Given the description of an element on the screen output the (x, y) to click on. 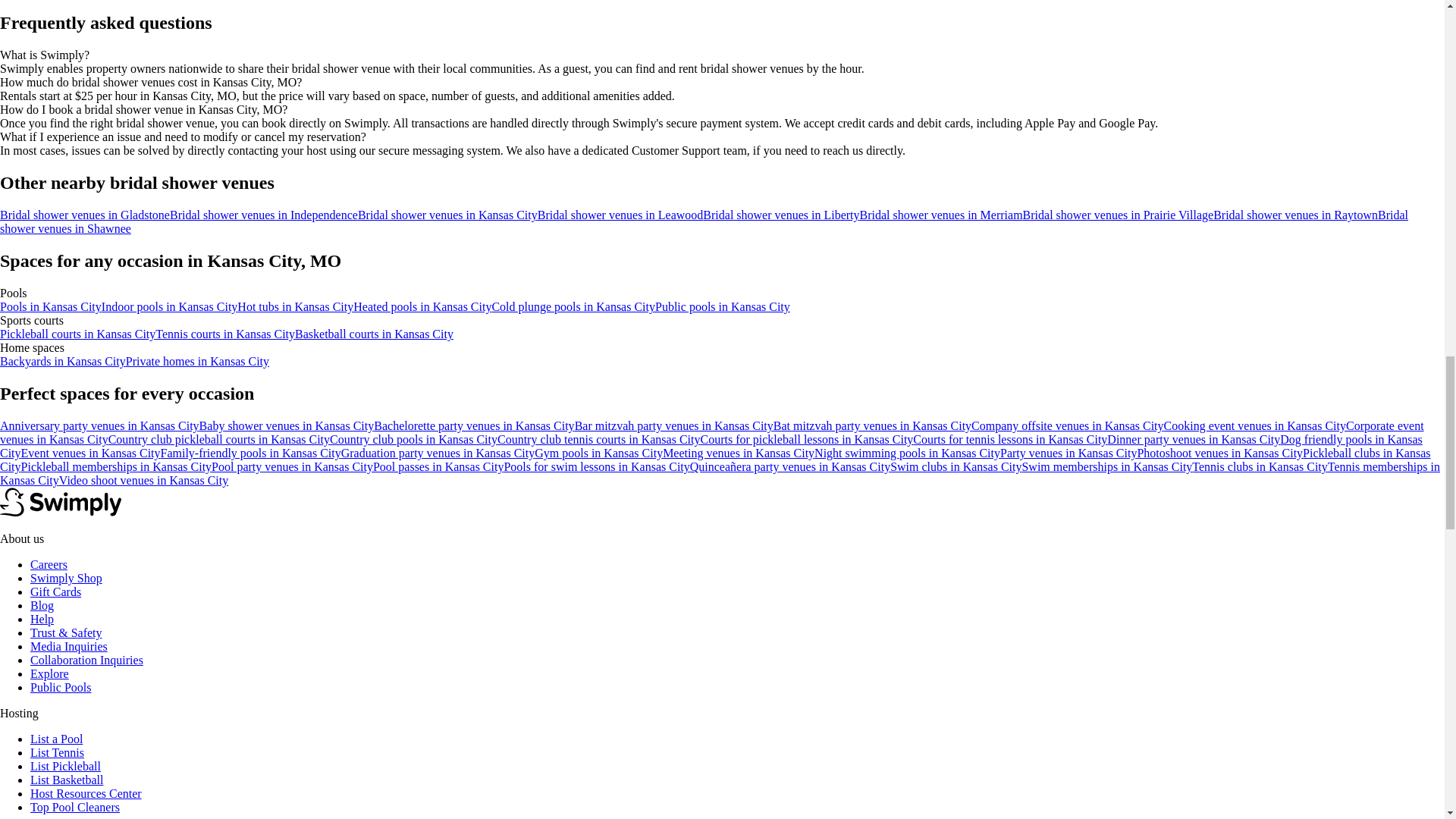
Media Inquiries (68, 645)
Bridal shower venues in Prairie Village (1118, 214)
Blog (41, 604)
Bridal shower venues in Gladstone (85, 214)
Bridal shower venues in Kansas City (447, 214)
Host Resources Center (85, 793)
List Tennis (57, 752)
Bridal shower venues in Merriam (941, 214)
List Basketball (66, 779)
Bridal shower venues in Shawnee (703, 221)
Bridal shower venues in Liberty (781, 214)
Indoor pools in Kansas City (169, 306)
Swimply Shop (65, 577)
Explore (49, 673)
Bridal shower venues in Independence (264, 214)
